Given the description of an element on the screen output the (x, y) to click on. 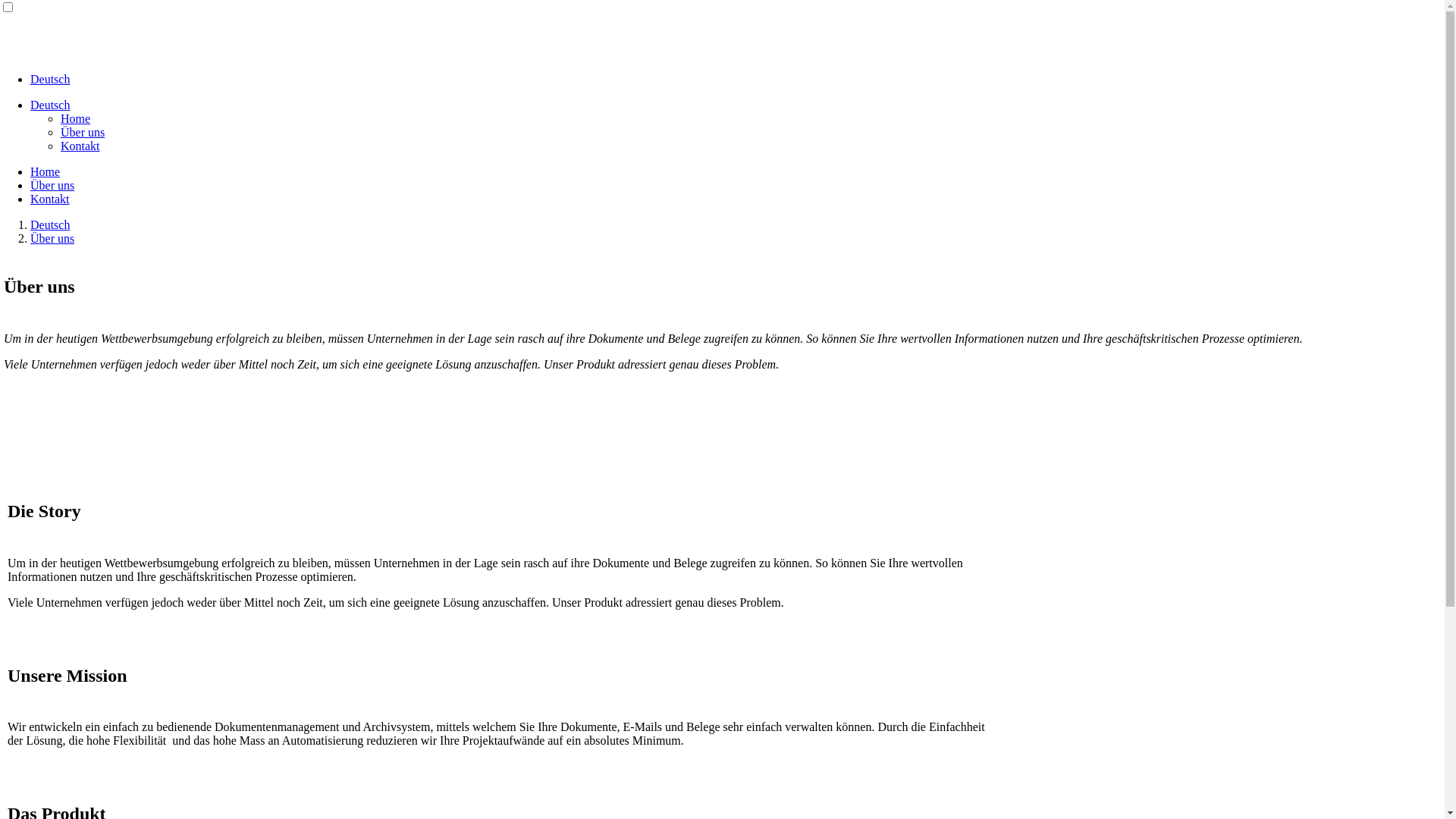
Home Element type: text (44, 171)
Deutsch Element type: text (49, 104)
Deutsch Element type: text (49, 78)
Kontakt Element type: text (49, 198)
Deutsch Element type: text (49, 224)
Home Element type: text (75, 118)
Kontakt Element type: text (80, 145)
